Given the description of an element on the screen output the (x, y) to click on. 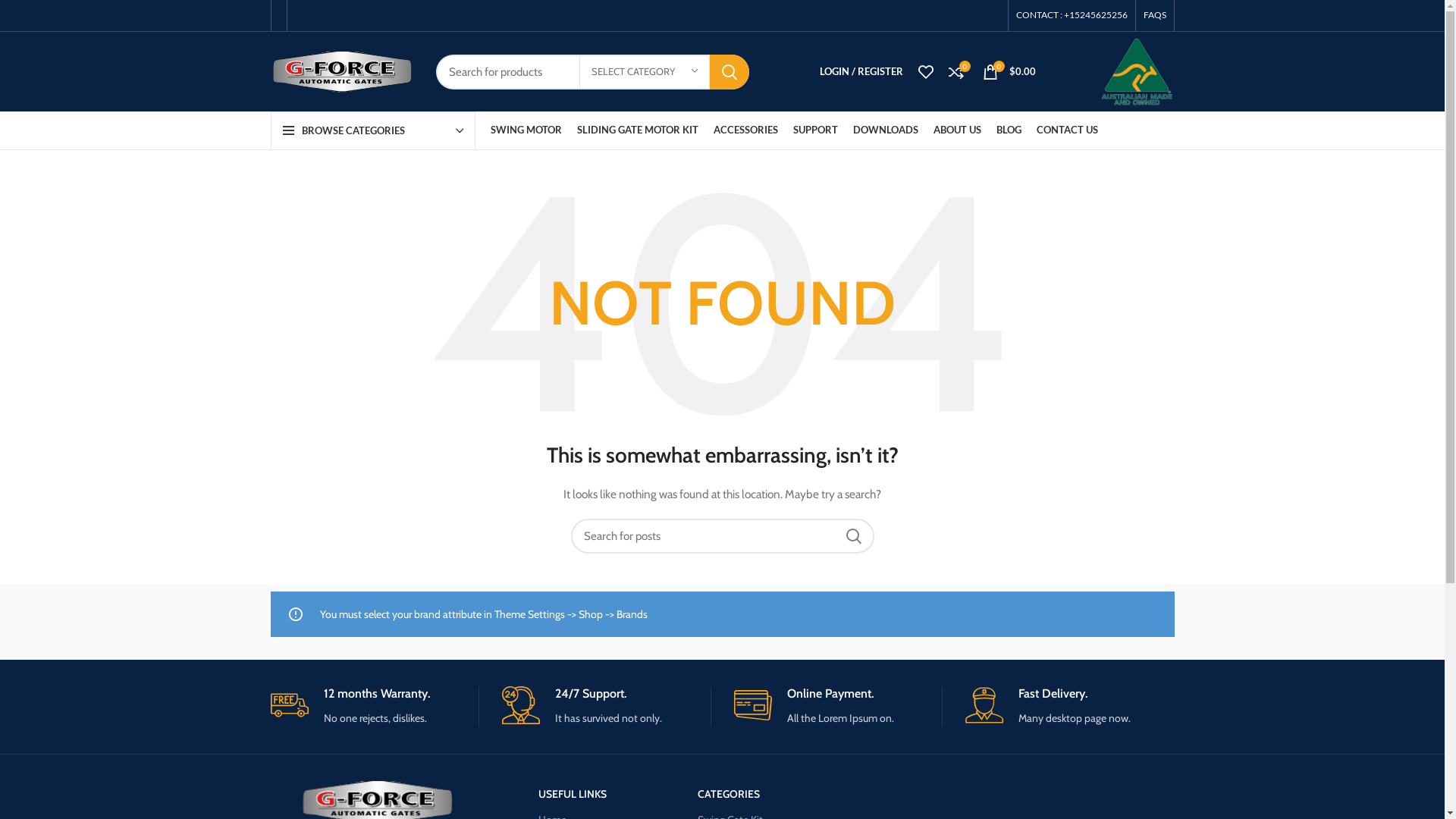
SEARCH Element type: text (729, 71)
CONTACT US Element type: text (1066, 130)
SUPPORT Element type: text (815, 130)
0
$0.00 Element type: text (1009, 71)
ACCESSORIES Element type: text (744, 130)
BLOG Element type: text (1008, 130)
0 Element type: text (955, 71)
LOGIN / REGISTER Element type: text (860, 71)
SLIDING GATE MOTOR KIT Element type: text (636, 130)
SEARCH Element type: text (853, 535)
CATEGORIES Element type: text (820, 793)
FAQS Element type: text (1154, 15)
SWING MOTOR Element type: text (525, 130)
USEFUL LINKS Element type: text (591, 793)
My Wishlist Element type: hover (925, 71)
CONTACT : +15245625256 Element type: text (1071, 15)
ABOUT US Element type: text (956, 130)
DOWNLOADS Element type: text (884, 130)
SELECT CATEGORY Element type: text (644, 71)
Search for posts Element type: hover (721, 535)
Search for products Element type: hover (592, 71)
